Given the description of an element on the screen output the (x, y) to click on. 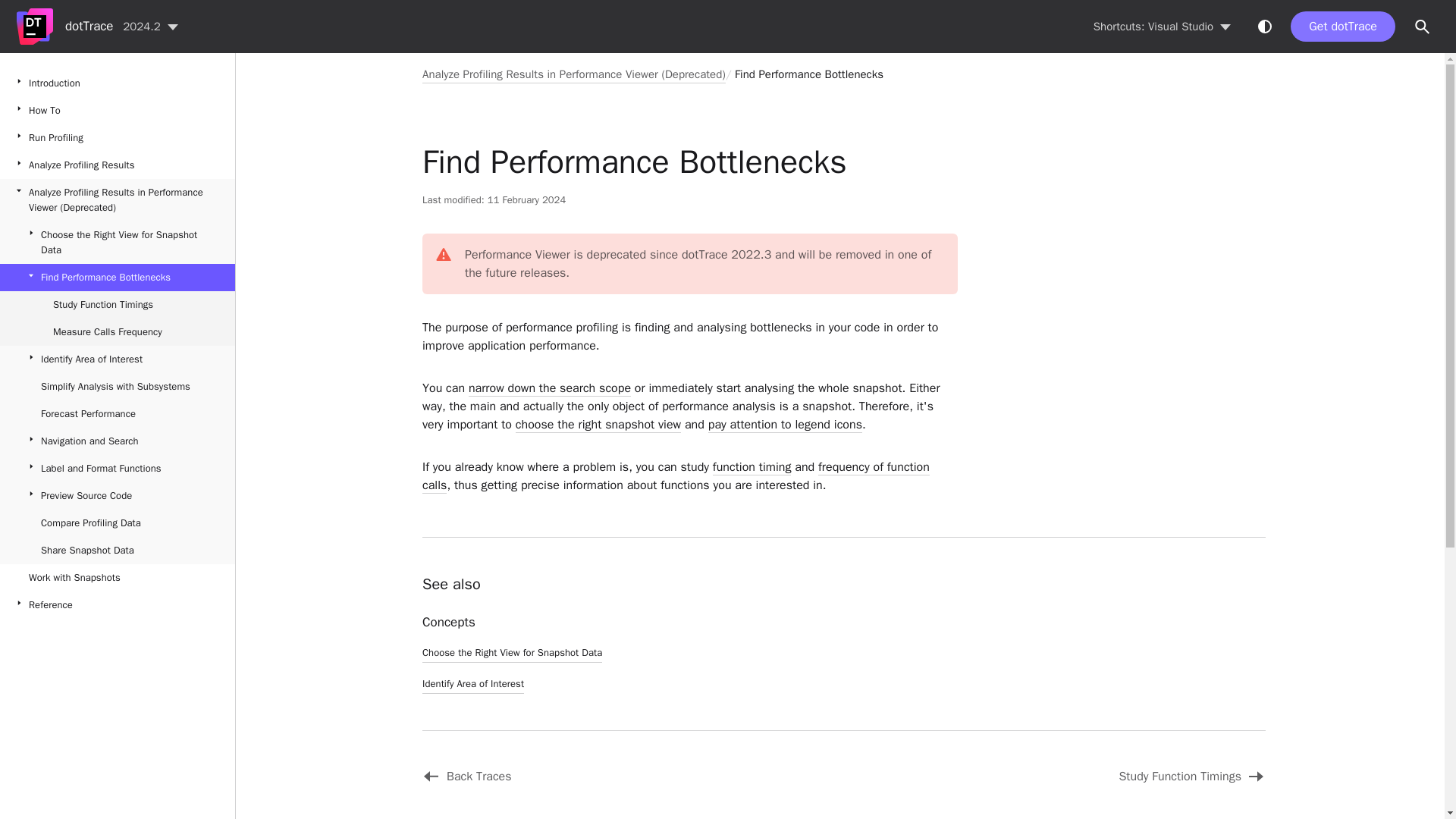
Share Snapshot Data (117, 550)
Find Performance Bottlenecks (809, 74)
Label and Format Functions (117, 468)
How To (117, 110)
Choose the Right View for Snapshot Data (117, 242)
Study Function Timings (1040, 776)
Back Traces (618, 776)
Forecast Performance (117, 413)
Switch theme (1264, 26)
Preview Source Code (117, 495)
